Given the description of an element on the screen output the (x, y) to click on. 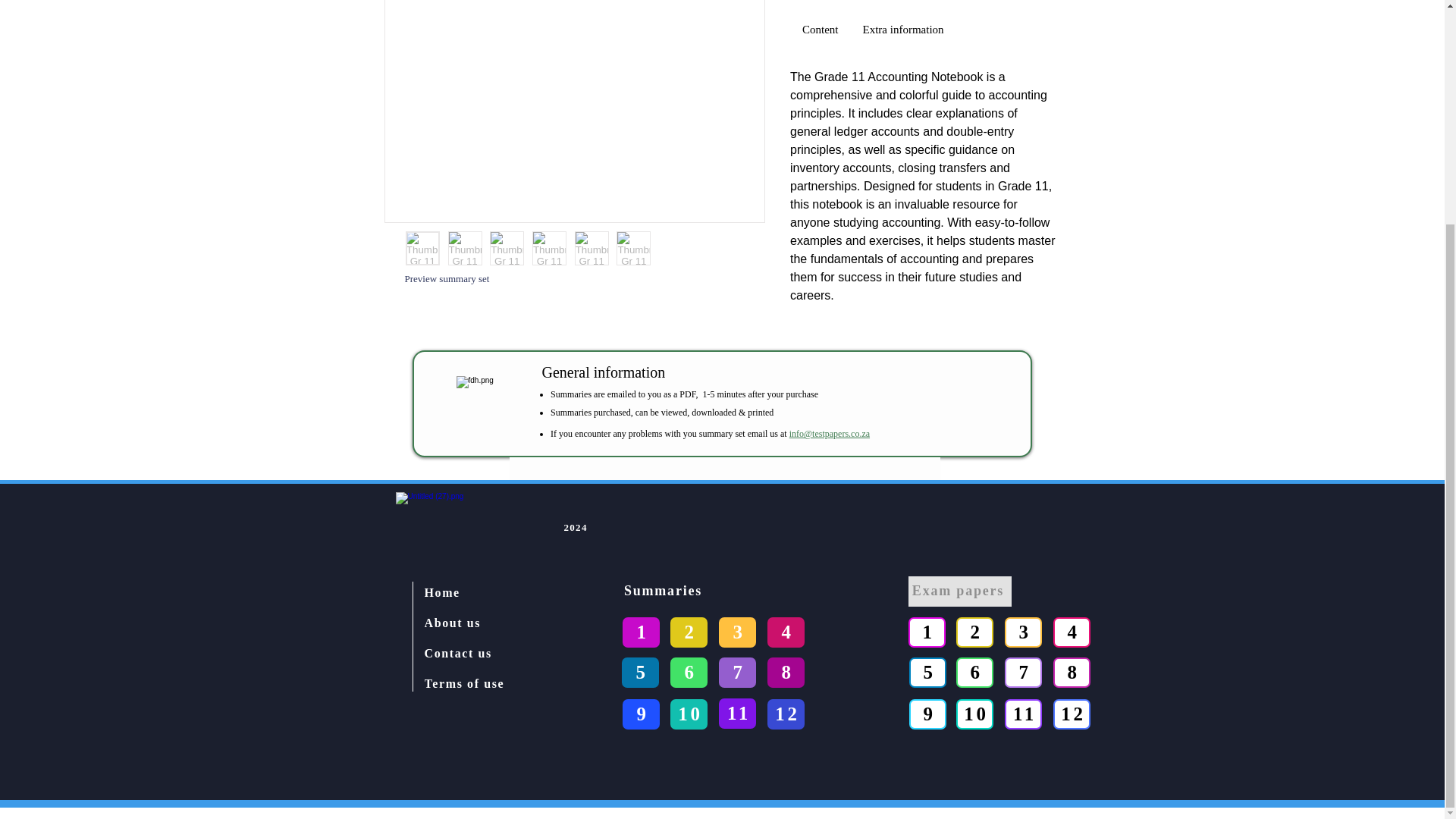
Use right and left arrows to navigate between tabs (820, 30)
Use right and left arrows to navigate between tabs (903, 30)
